Given the description of an element on the screen output the (x, y) to click on. 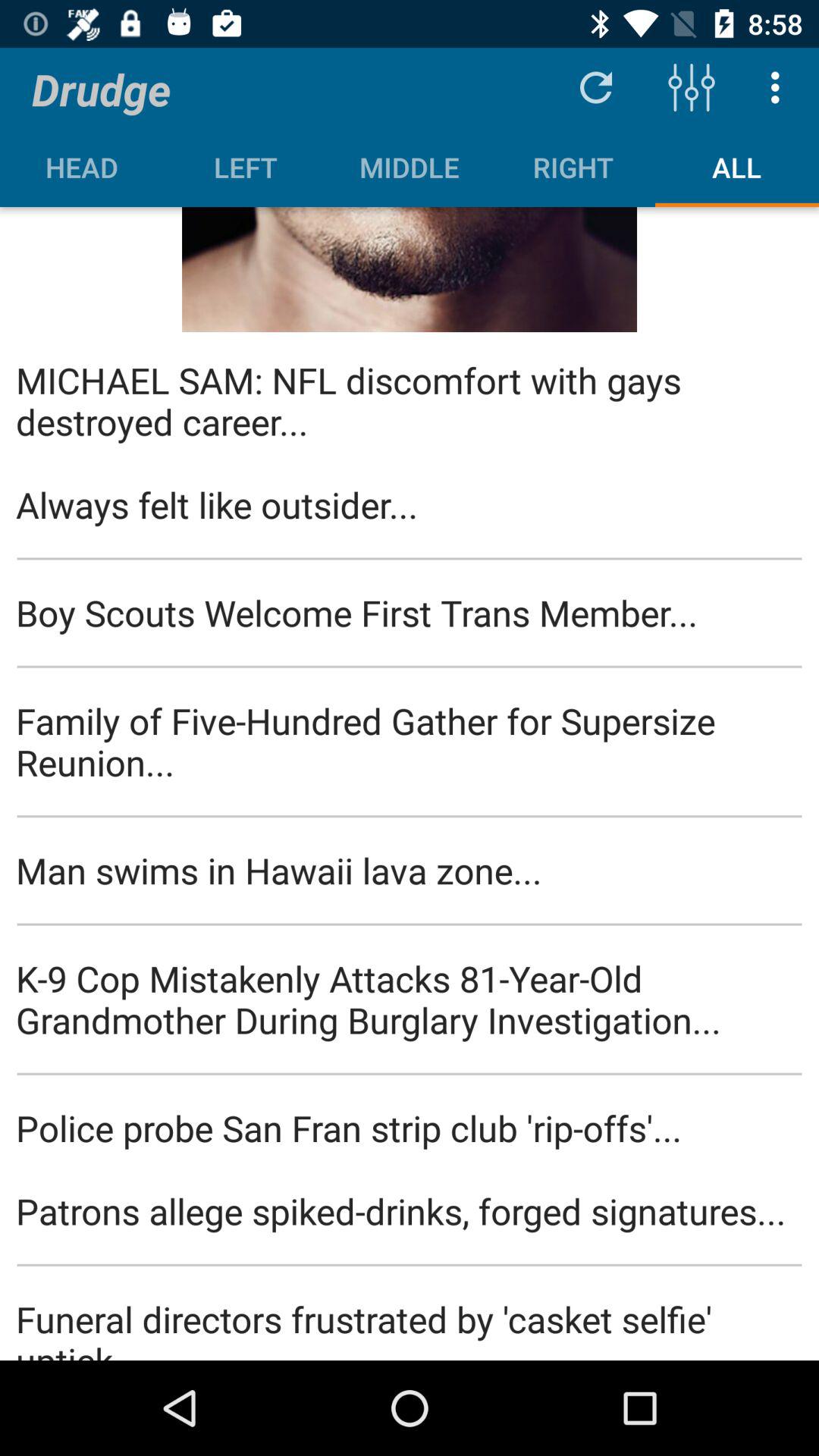
select the item above all (779, 87)
